Given the description of an element on the screen output the (x, y) to click on. 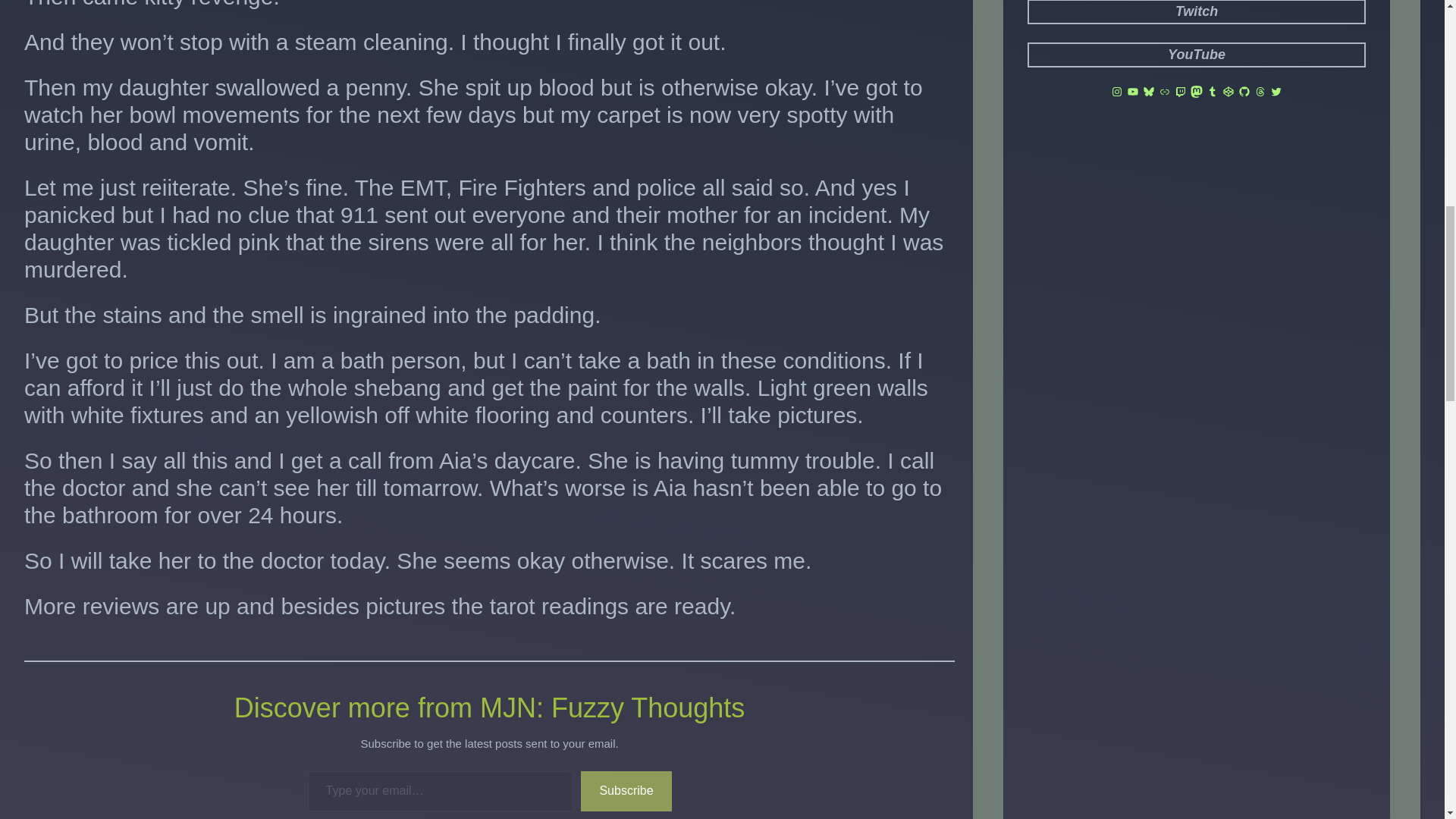
Instagram (1116, 91)
Subscribe (625, 791)
Tumblr (1212, 91)
YouTube (1132, 91)
YouTube (1196, 54)
Twitch (1180, 91)
Link (1164, 91)
Bluesky (1148, 91)
Please fill in this field. (440, 791)
Twitch (1196, 12)
